Given the description of an element on the screen output the (x, y) to click on. 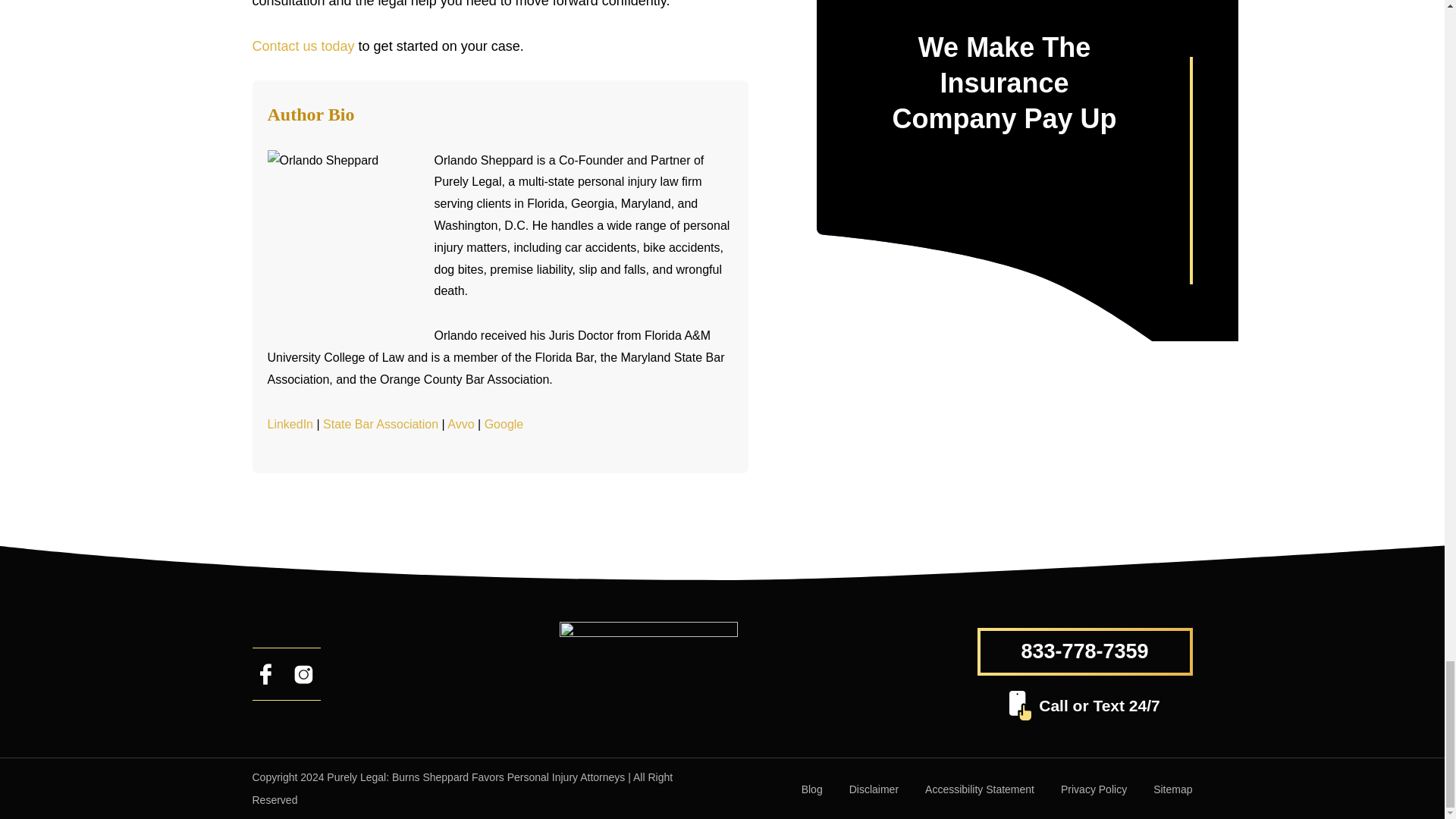
Contact us today (302, 46)
Google (504, 423)
State Bar Association (380, 423)
LinkedIn (289, 423)
Avvo (460, 423)
